Given the description of an element on the screen output the (x, y) to click on. 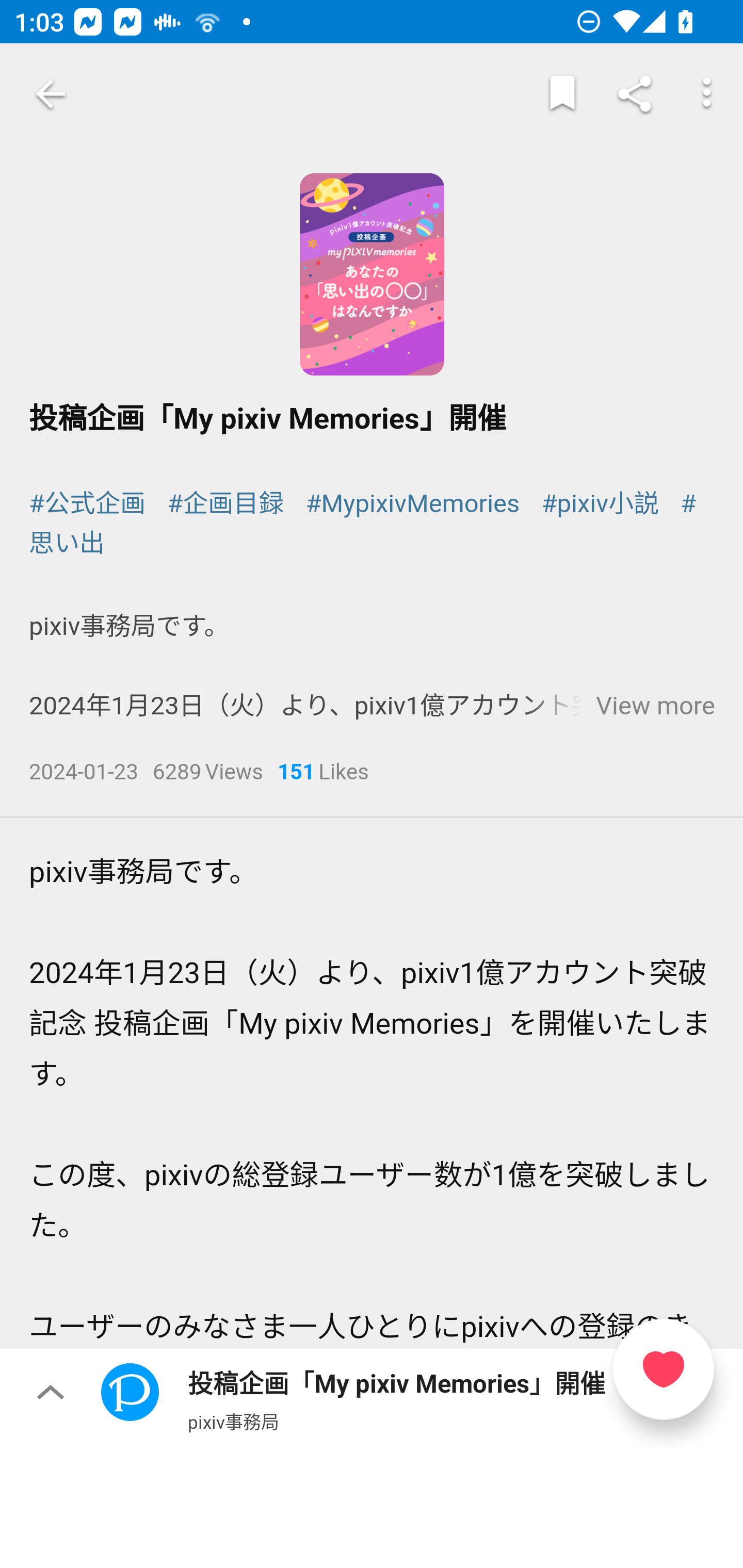
Navigate up (50, 93)
Markers (562, 93)
Share (634, 93)
More options (706, 93)
#公式企画 (87, 503)
#企画目録 (225, 503)
#MypixivMemories (412, 503)
#pixiv小説 (599, 503)
View more (654, 706)
151Likes (323, 773)
pixiv事務局 (233, 1421)
